Given the description of an element on the screen output the (x, y) to click on. 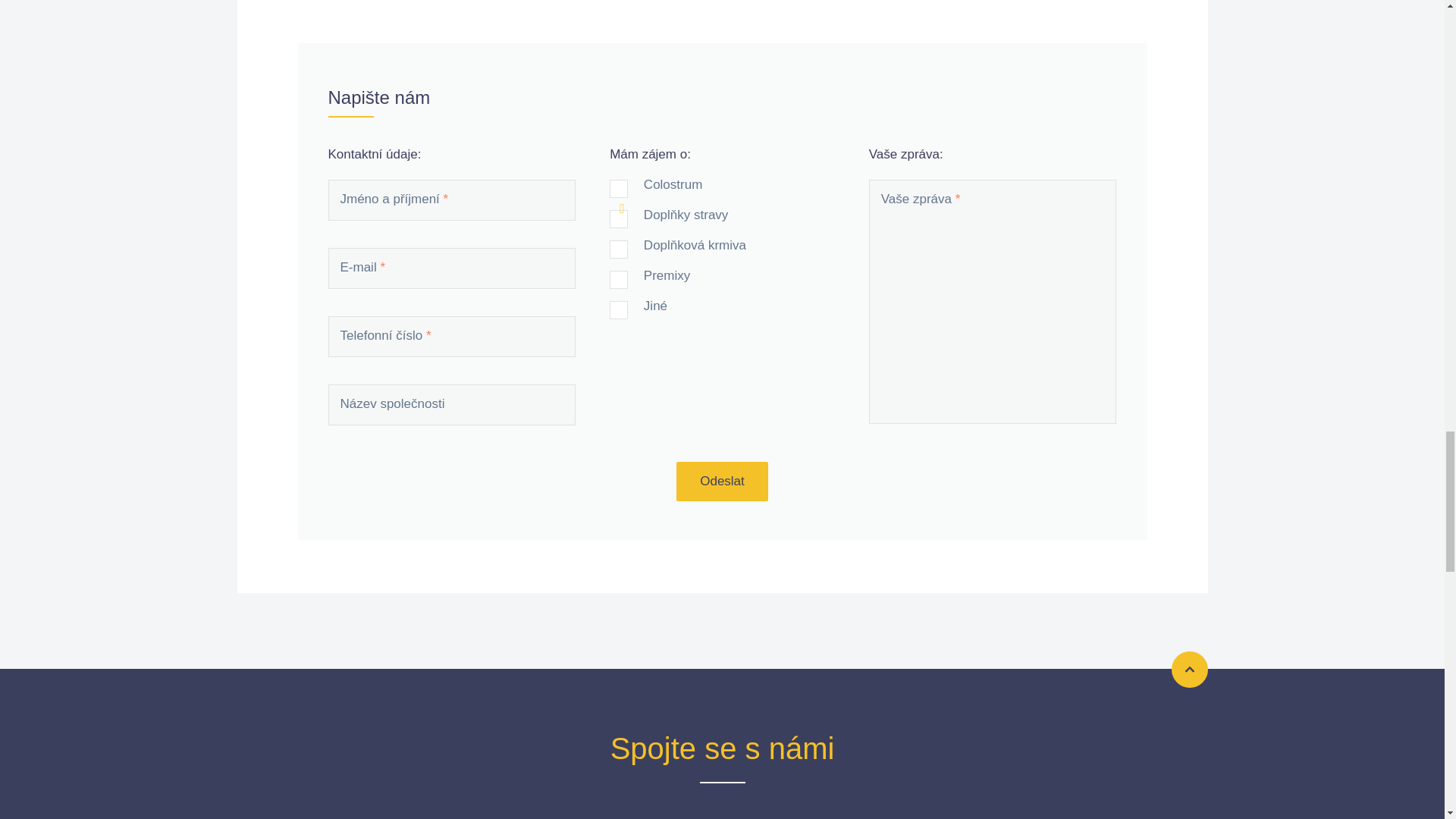
Odeslat (722, 481)
